Given the description of an element on the screen output the (x, y) to click on. 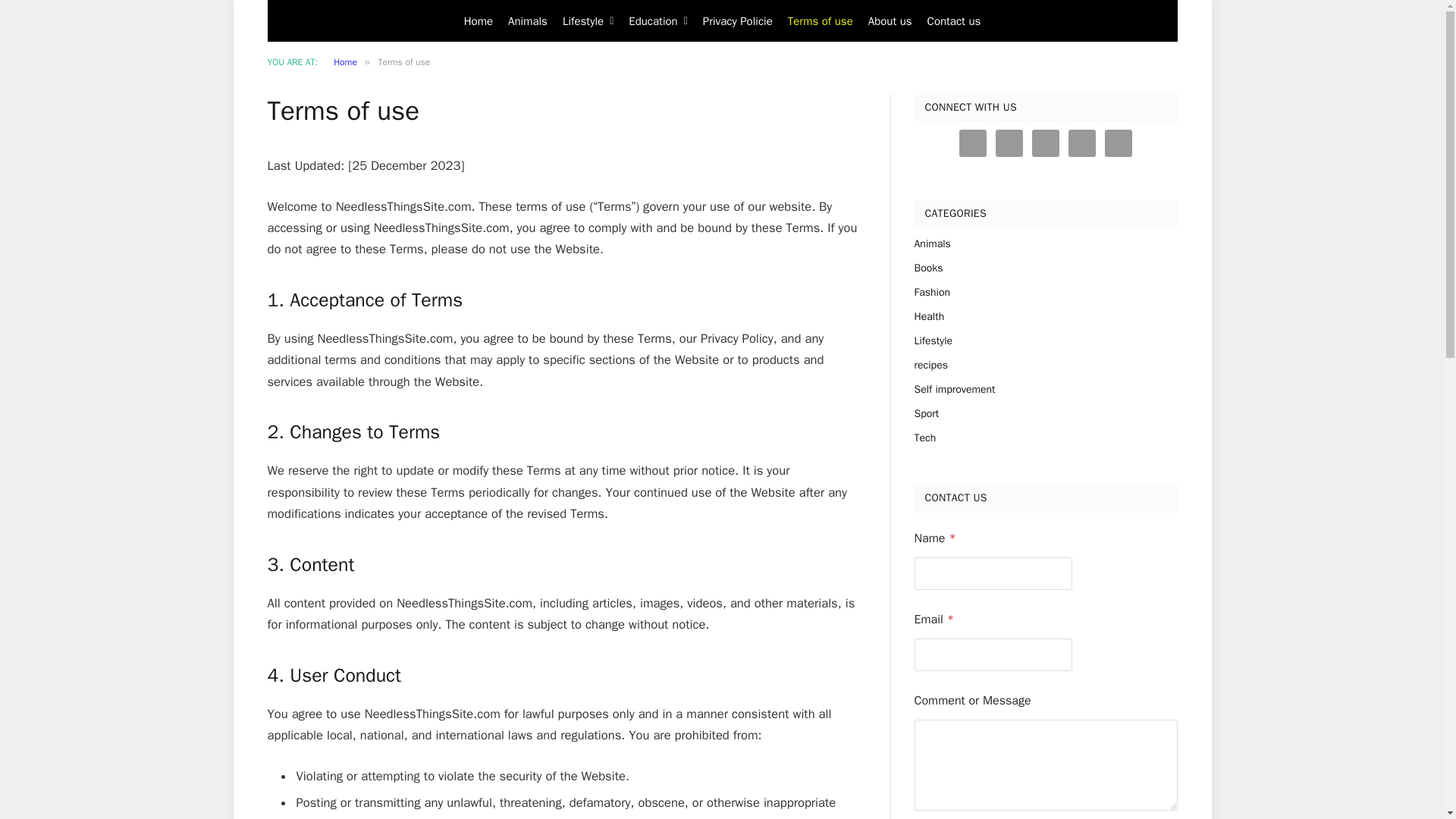
recipes (930, 365)
Sport (926, 413)
Terms of use (820, 20)
Tech (925, 437)
About us (890, 20)
Books (928, 268)
Health (929, 316)
Fashion (932, 292)
Home (344, 61)
Animals (932, 243)
